Given the description of an element on the screen output the (x, y) to click on. 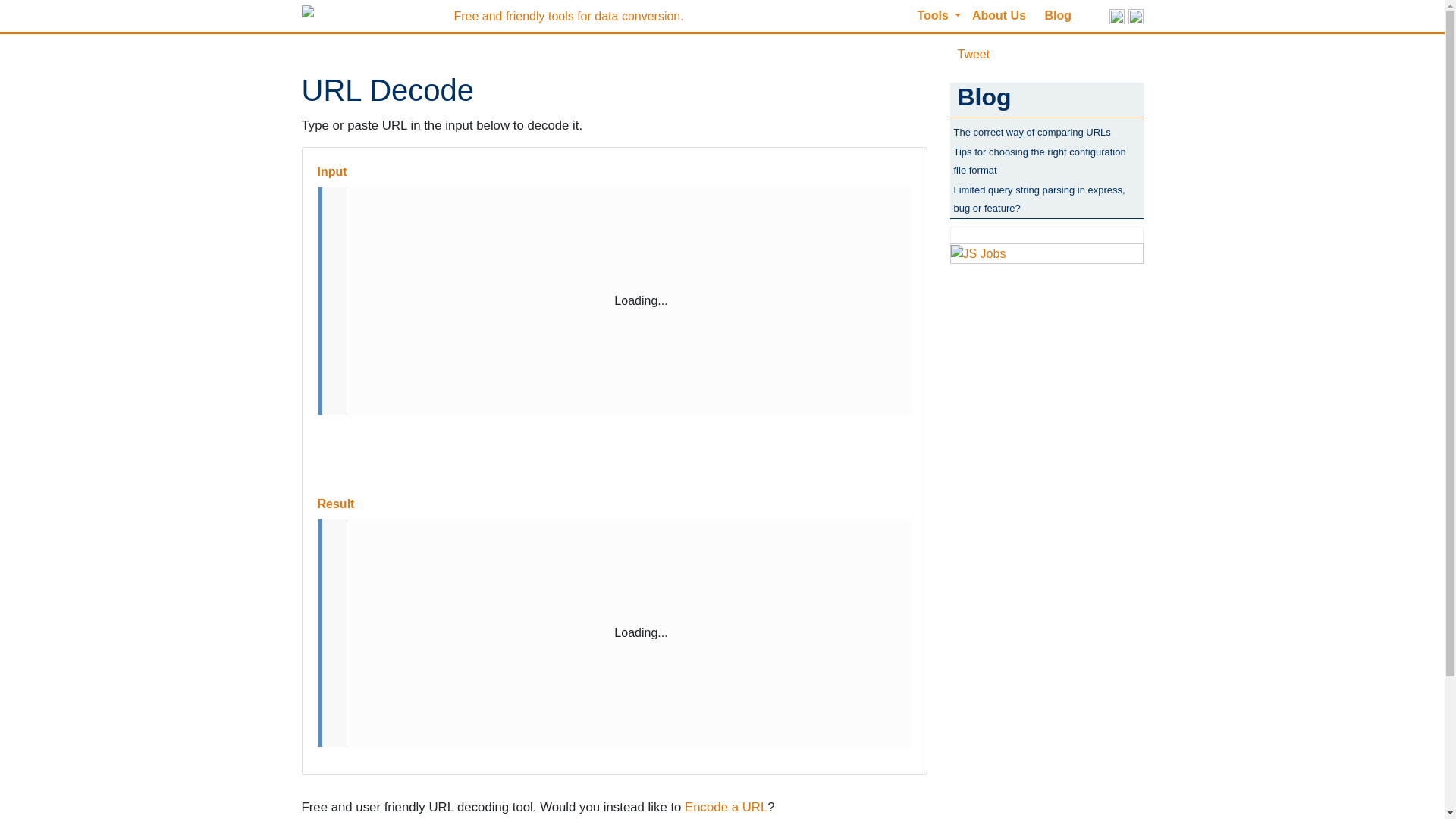
Encode a URL (725, 807)
About Us (998, 15)
Tweet (973, 53)
JS Jobs (978, 253)
Tools (938, 15)
The correct way of comparing URLs (1031, 132)
Encode a URL (725, 807)
Tips for choosing the right configuration file format (1039, 161)
Blog (1058, 15)
Limited query string parsing in express, bug or feature? (1039, 198)
